Given the description of an element on the screen output the (x, y) to click on. 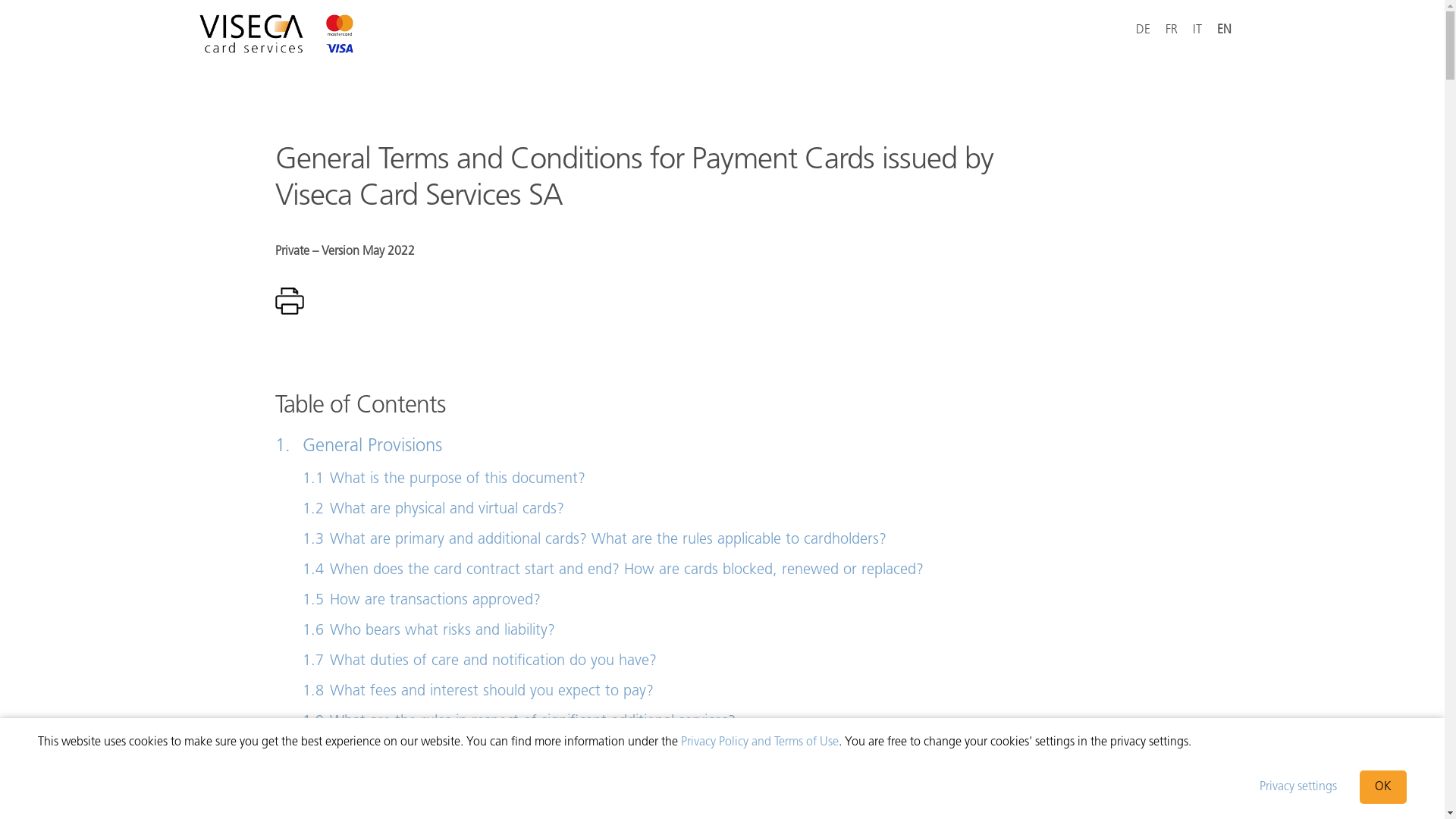
EN Element type: text (1224, 30)
1.2
What are physical and virtual cards? Element type: text (721, 509)
OK Element type: text (1382, 786)
IT Element type: text (1197, 30)
1.
General Provisions Element type: text (721, 446)
1.8
What fees and interest should you expect to pay? Element type: text (721, 691)
1.11
What other rules must be complied with? Element type: text (721, 782)
1.5
How are transactions approved? Element type: text (721, 600)
FR Element type: text (1171, 30)
DE Element type: text (1142, 30)
Privacy settings Element type: text (1297, 787)
1.7
What duties of care and notification do you have? Element type: text (721, 660)
Privacy Policy and Terms of Use Element type: text (759, 742)
1.10
How is personal data protected? Element type: text (721, 751)
1.6
Who bears what risks and liability? Element type: text (721, 630)
1.1
What is the purpose of this document? Element type: text (721, 478)
